Given the description of an element on the screen output the (x, y) to click on. 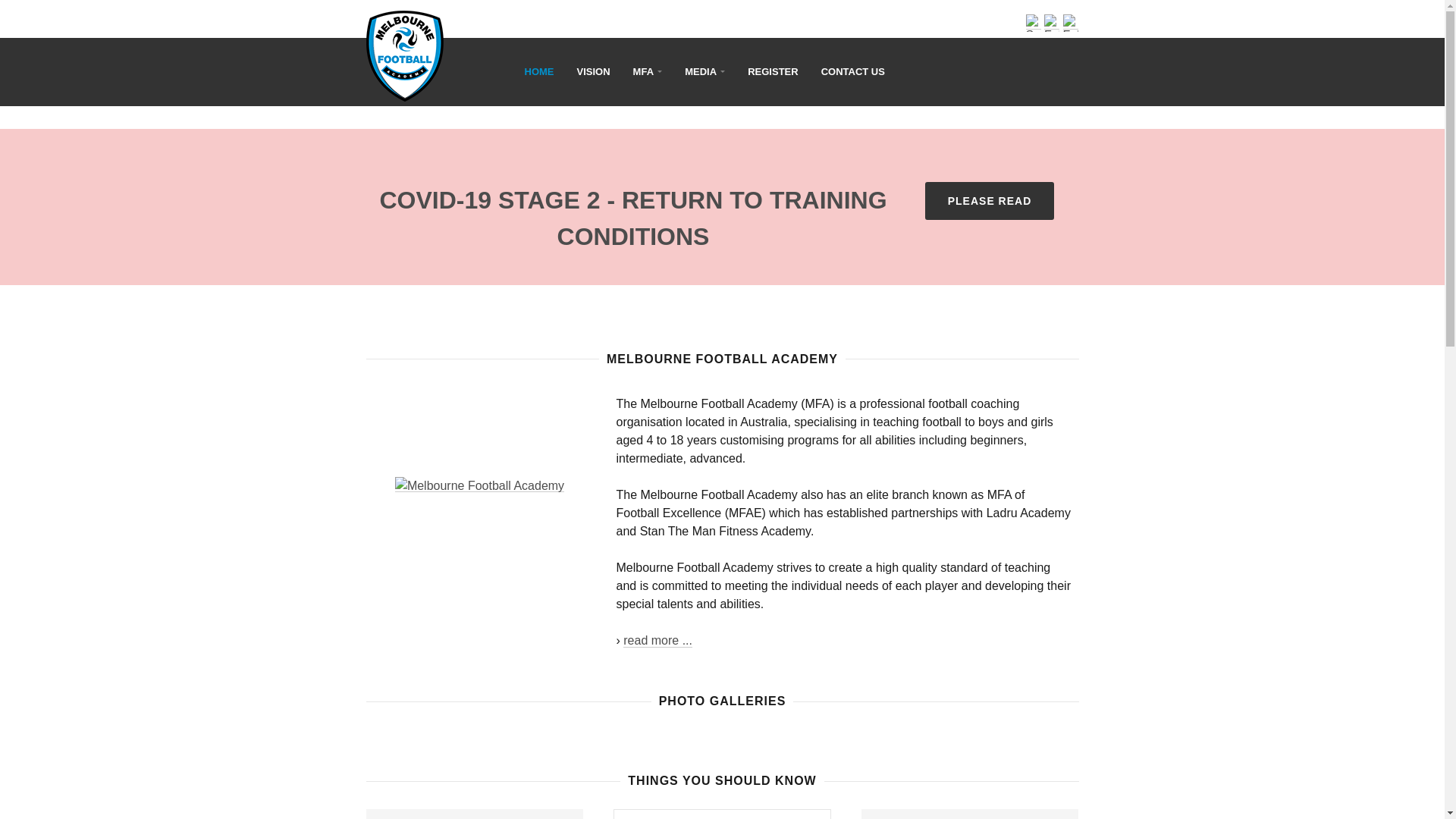
MFA Element type: text (647, 71)
REGISTER Element type: text (772, 71)
HOME Element type: text (539, 71)
read more ... Element type: text (657, 640)
  Element type: text (460, 45)
PLEASE READ Element type: text (989, 200)
VISION Element type: text (593, 71)
CONTACT US Element type: text (852, 71)
MEDIA Element type: text (704, 71)
